Given the description of an element on the screen output the (x, y) to click on. 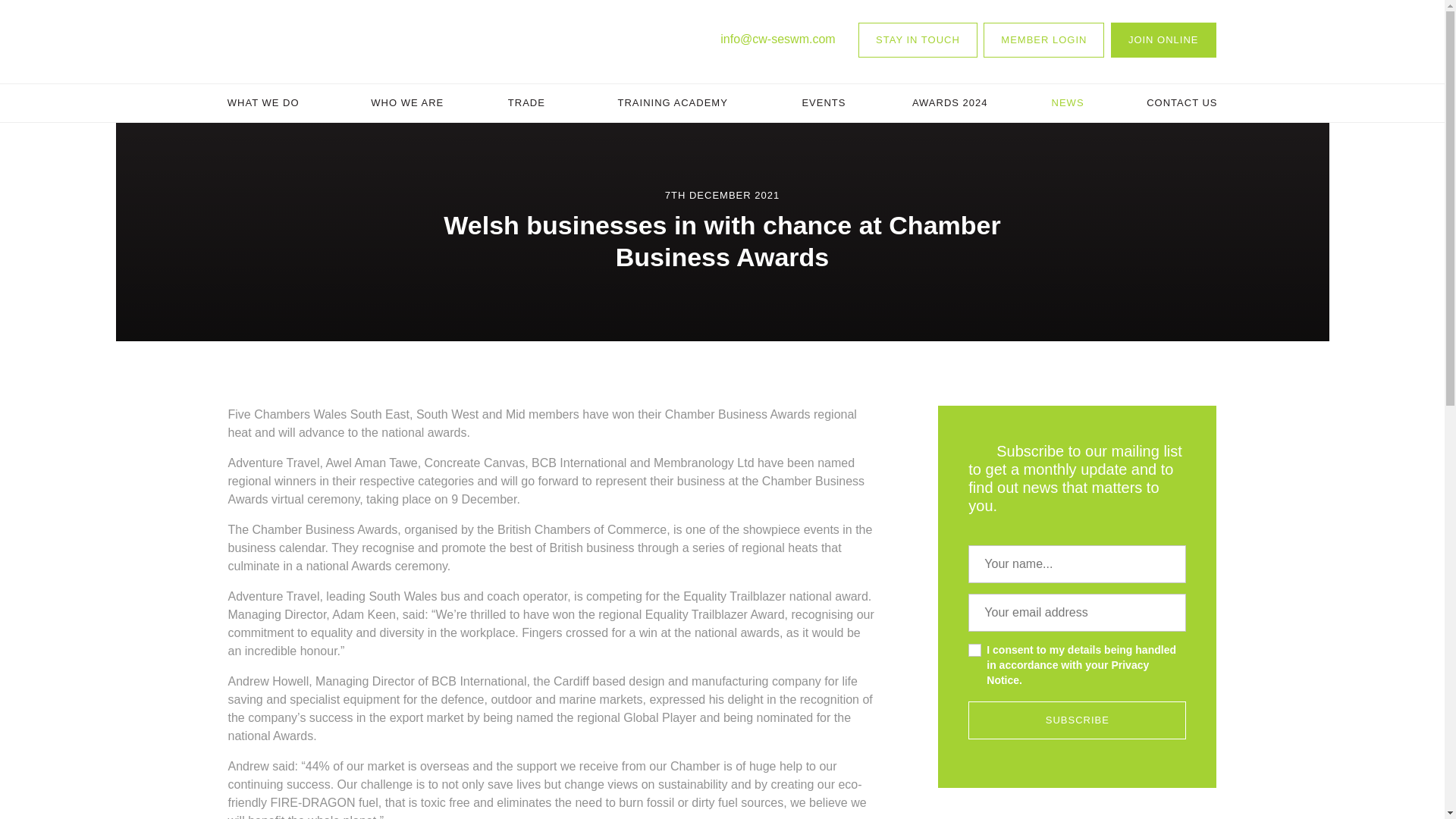
WHAT WE DO (262, 103)
EVENTS (823, 103)
WHO WE ARE (407, 103)
STAY IN TOUCH (917, 39)
TRADE (526, 103)
searchsubmit (1005, 177)
Subscribe (1077, 720)
MEMBER LOGIN (1043, 39)
TRAINING ACADEMY (672, 103)
The Chamber (293, 41)
